Given the description of an element on the screen output the (x, y) to click on. 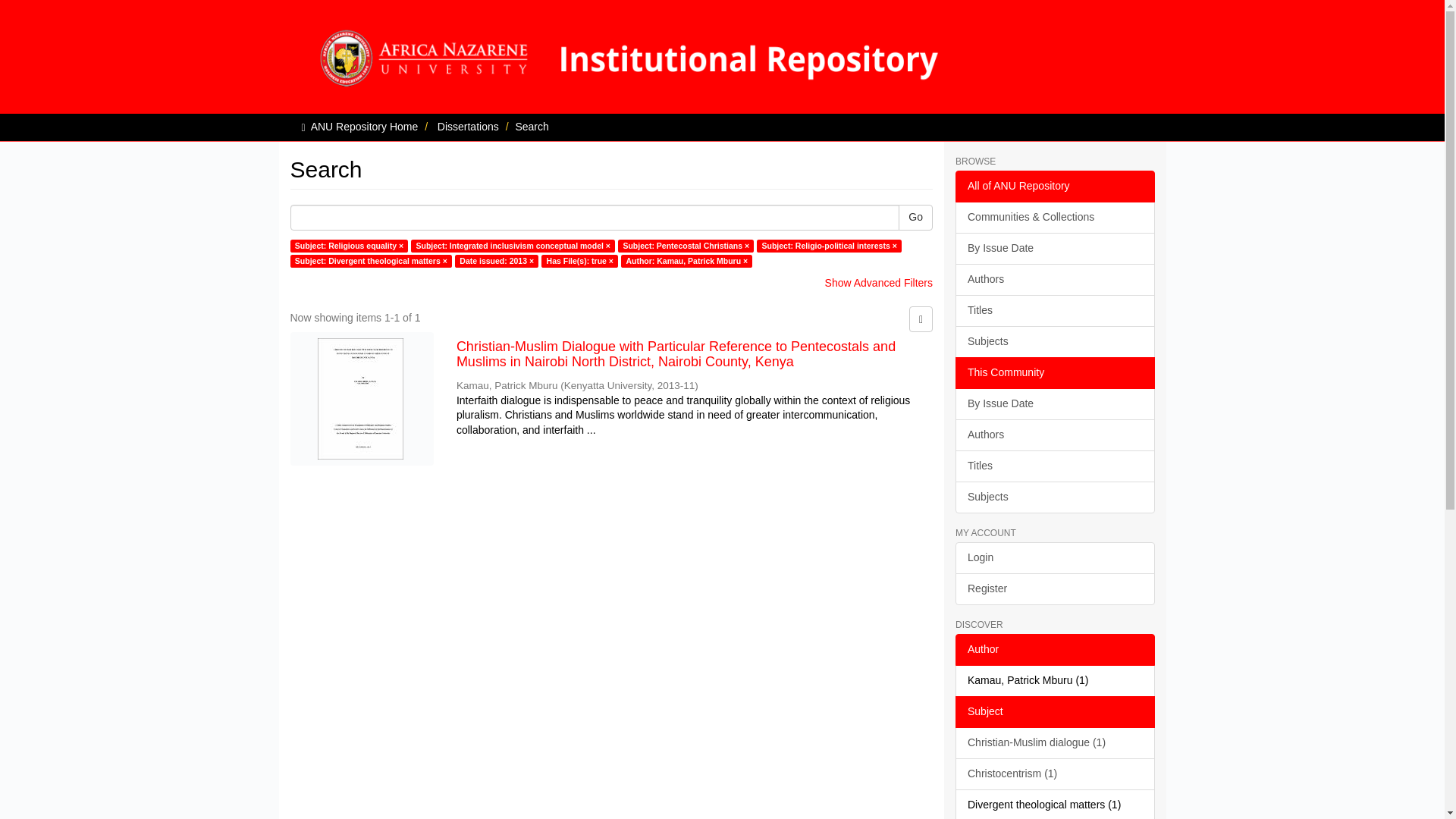
Dissertations (468, 126)
Show Advanced Filters (879, 282)
Go (915, 217)
ANU Repository Home (365, 126)
